Given the description of an element on the screen output the (x, y) to click on. 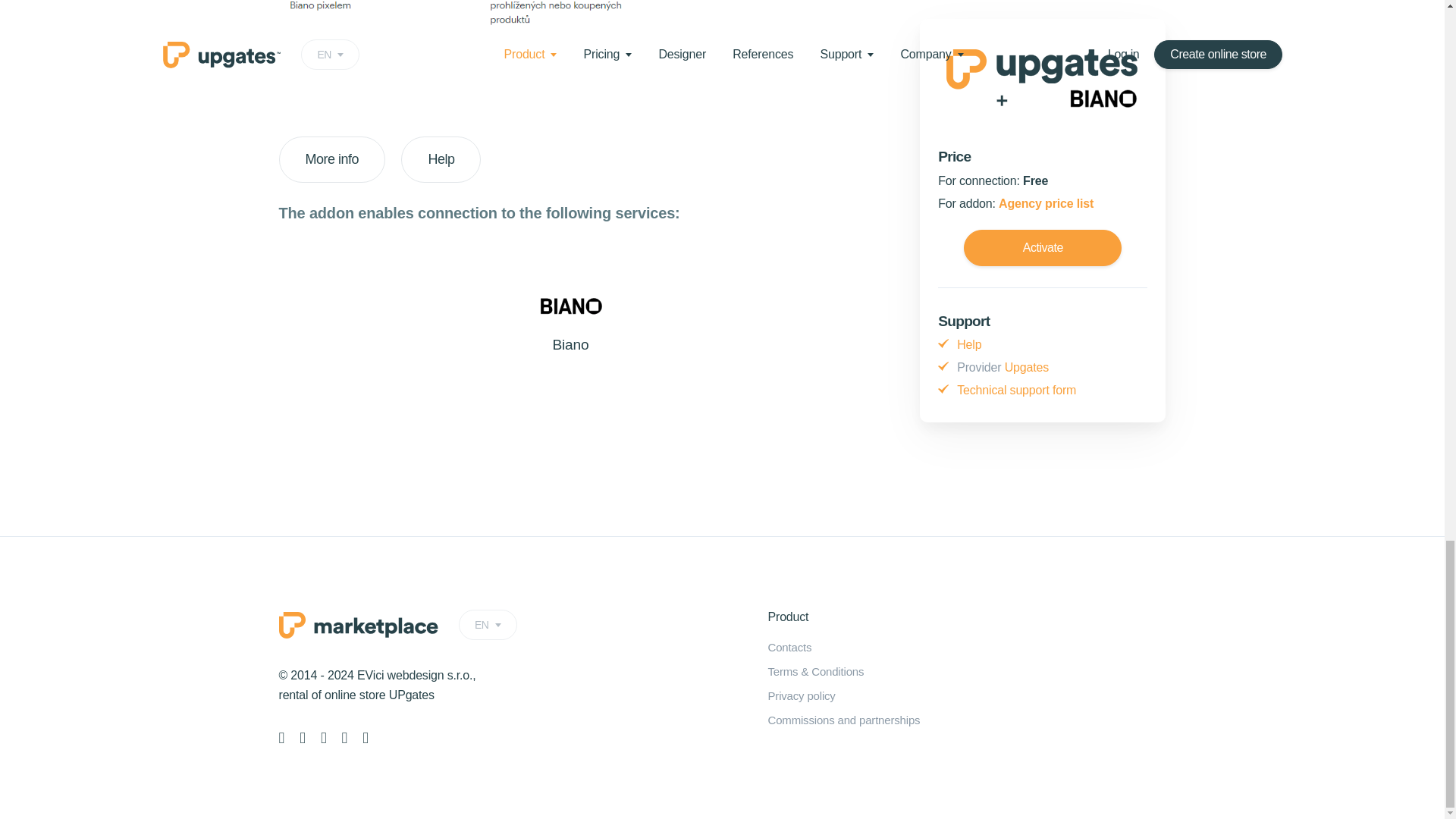
More info (332, 159)
